Given the description of an element on the screen output the (x, y) to click on. 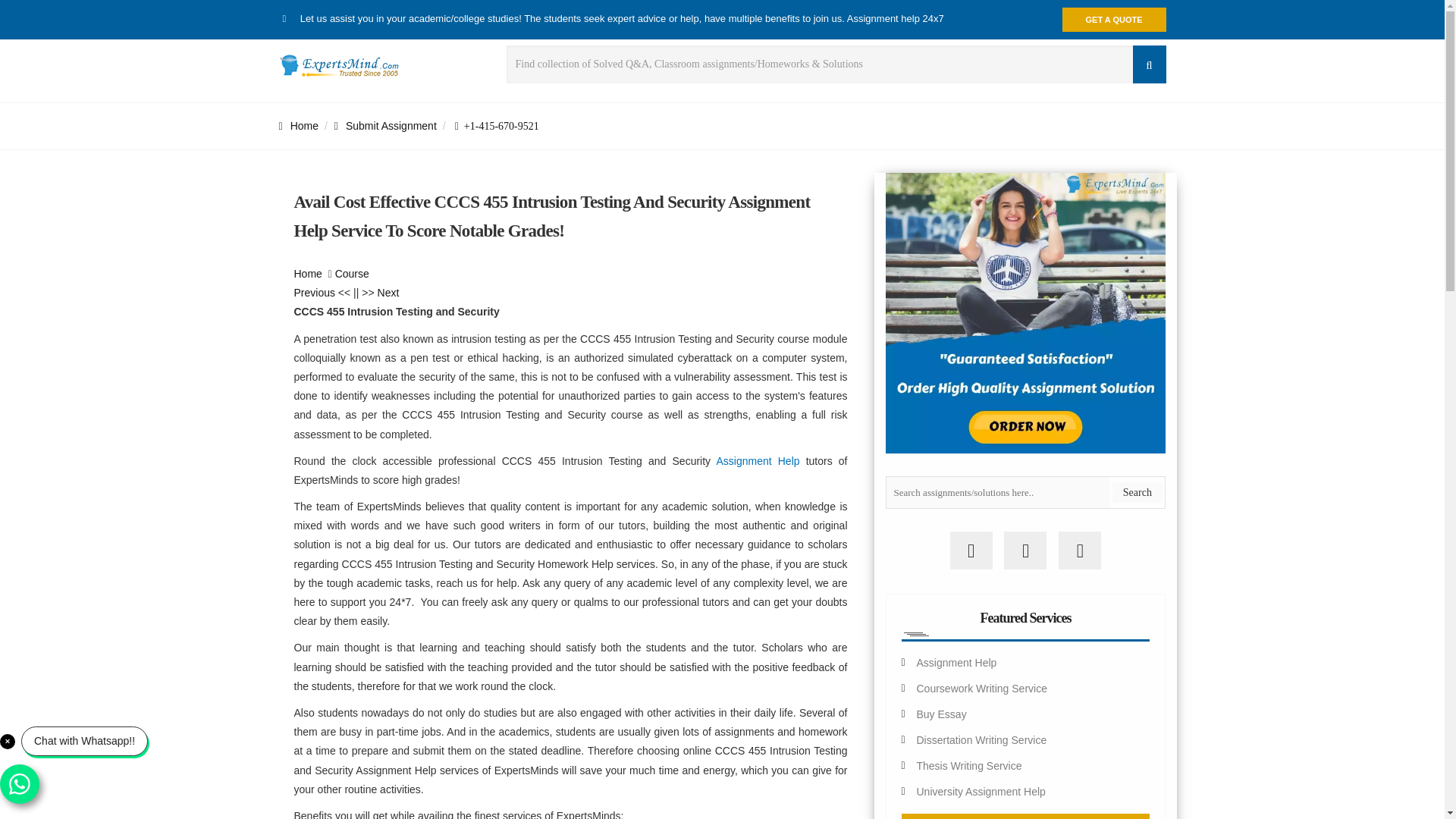
Thesis Writing Service (968, 766)
Home (307, 273)
assignment help (307, 273)
Search (1136, 492)
Assignment Help (955, 662)
Buy Essay (940, 714)
Coursework Writing Service (980, 688)
Assignment Help (757, 460)
Order Now (1025, 816)
University Assignment Help (980, 791)
